Given the description of an element on the screen output the (x, y) to click on. 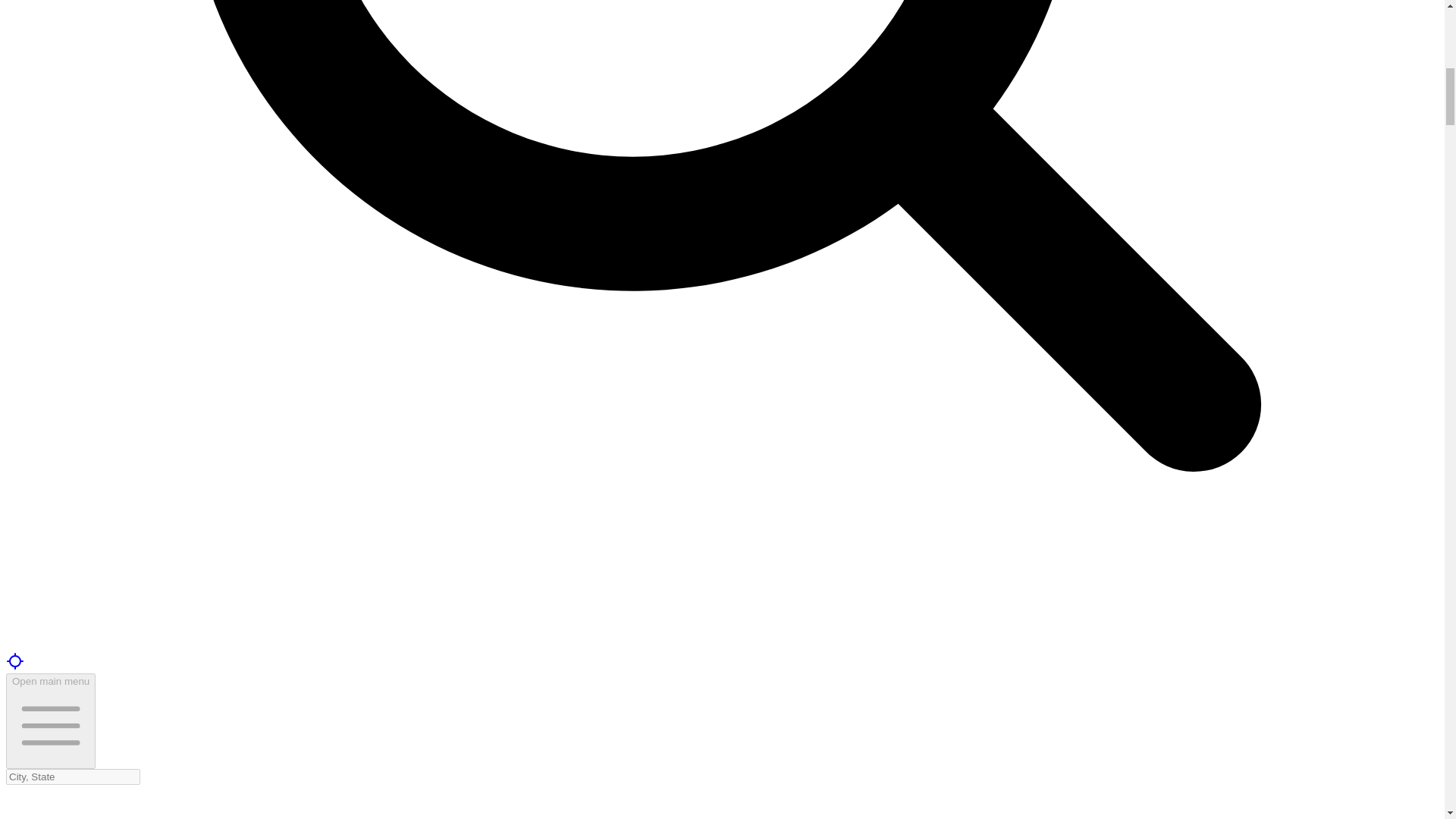
Find Restaurants on TV Nearby (14, 666)
Open main menu (50, 721)
